Given the description of an element on the screen output the (x, y) to click on. 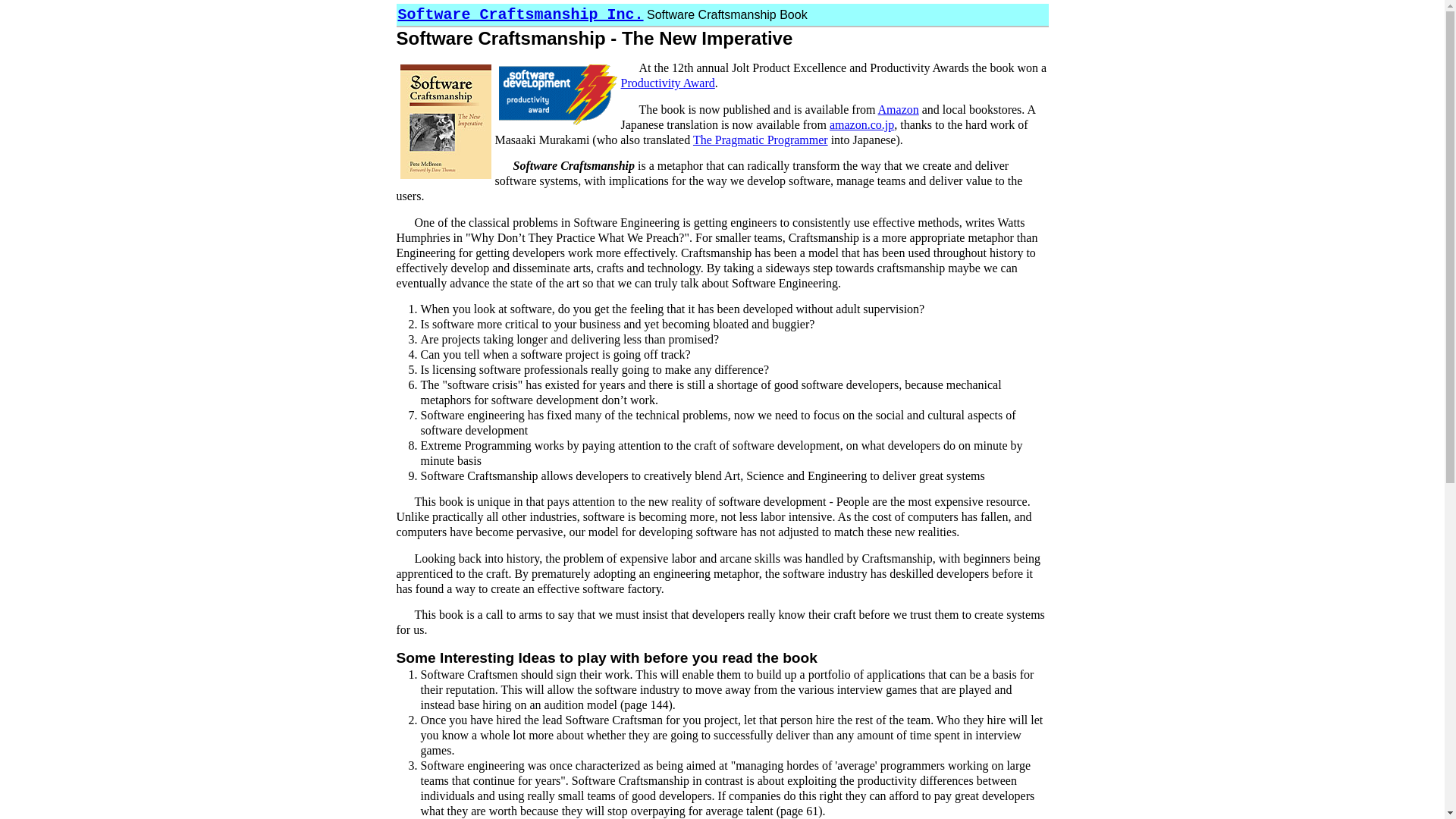
Software Craftsmanship Inc. Element type: text (520, 14)
The Pragmatic Programmer Element type: text (760, 139)
amazon.co.jp Element type: text (861, 124)
Productivity Award Element type: text (667, 82)
Amazon Element type: text (898, 109)
